Given the description of an element on the screen output the (x, y) to click on. 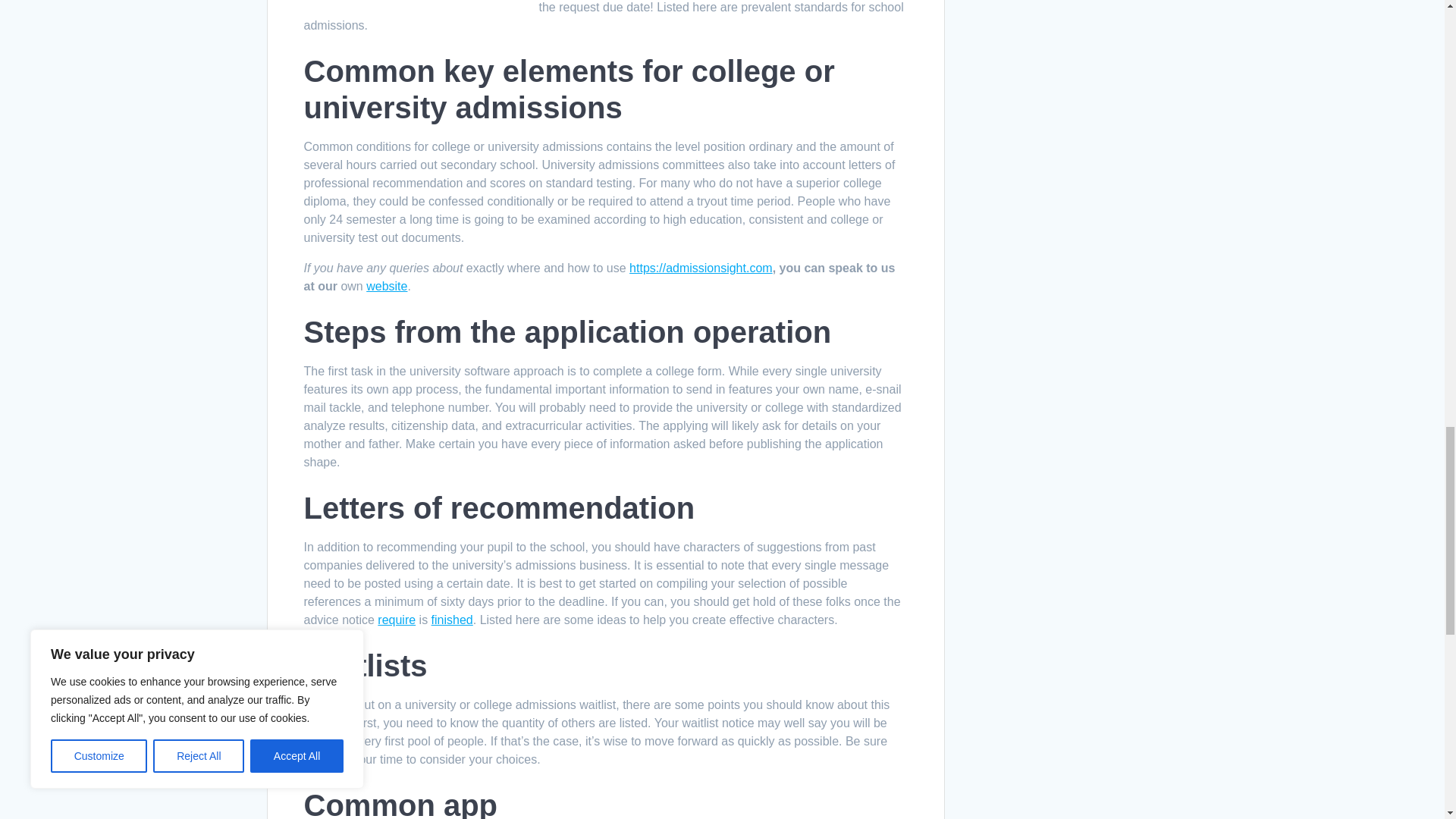
finished (451, 619)
website (386, 286)
require (395, 619)
